Given the description of an element on the screen output the (x, y) to click on. 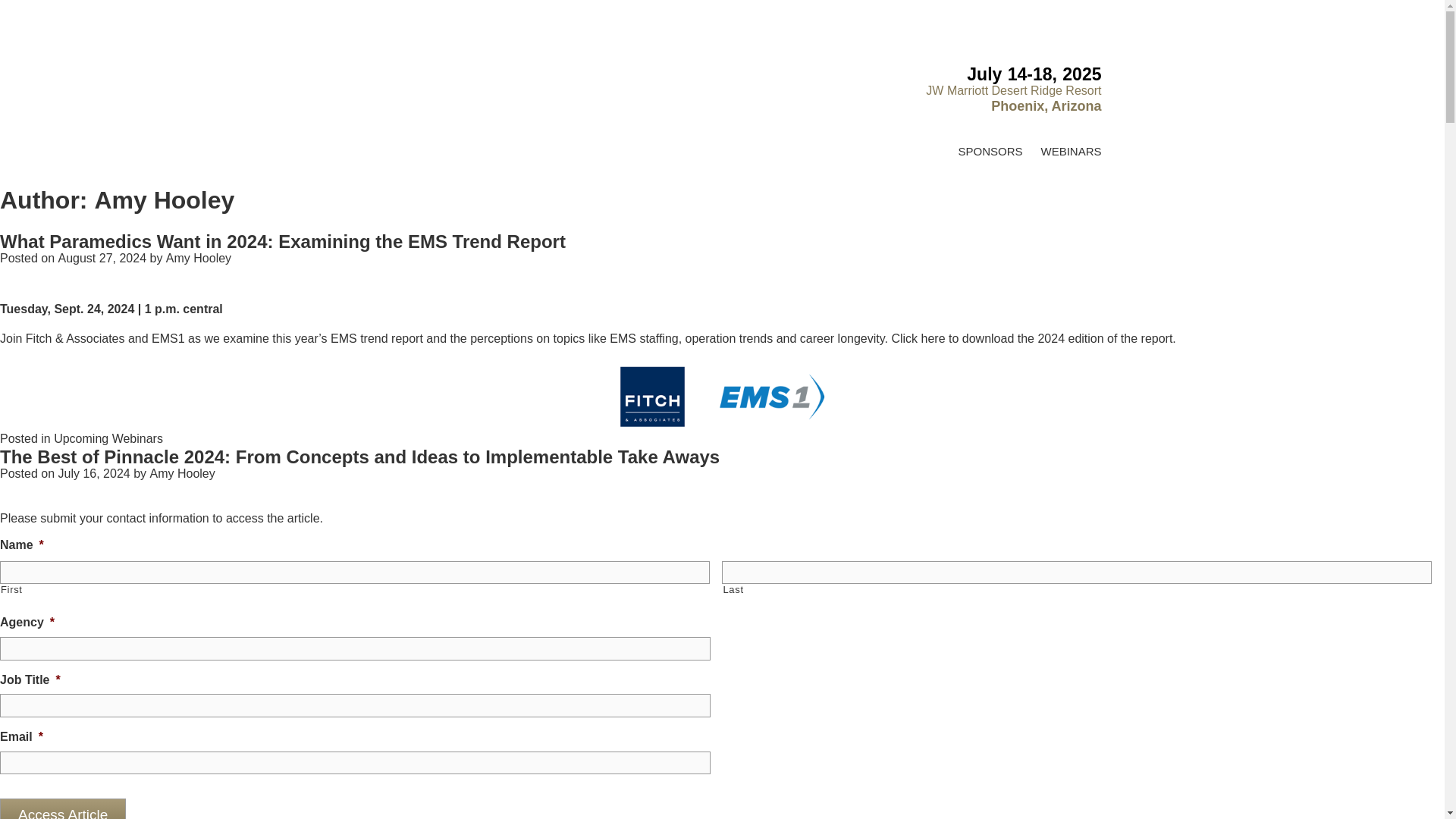
Amy Hooley (181, 472)
Access Article (62, 808)
July 16, 2024 (93, 472)
SPONSORS (989, 150)
Click here (917, 338)
Access Article (62, 808)
Amy Hooley (198, 257)
WEBINARS (1069, 150)
August 27, 2024 (102, 257)
